Given the description of an element on the screen output the (x, y) to click on. 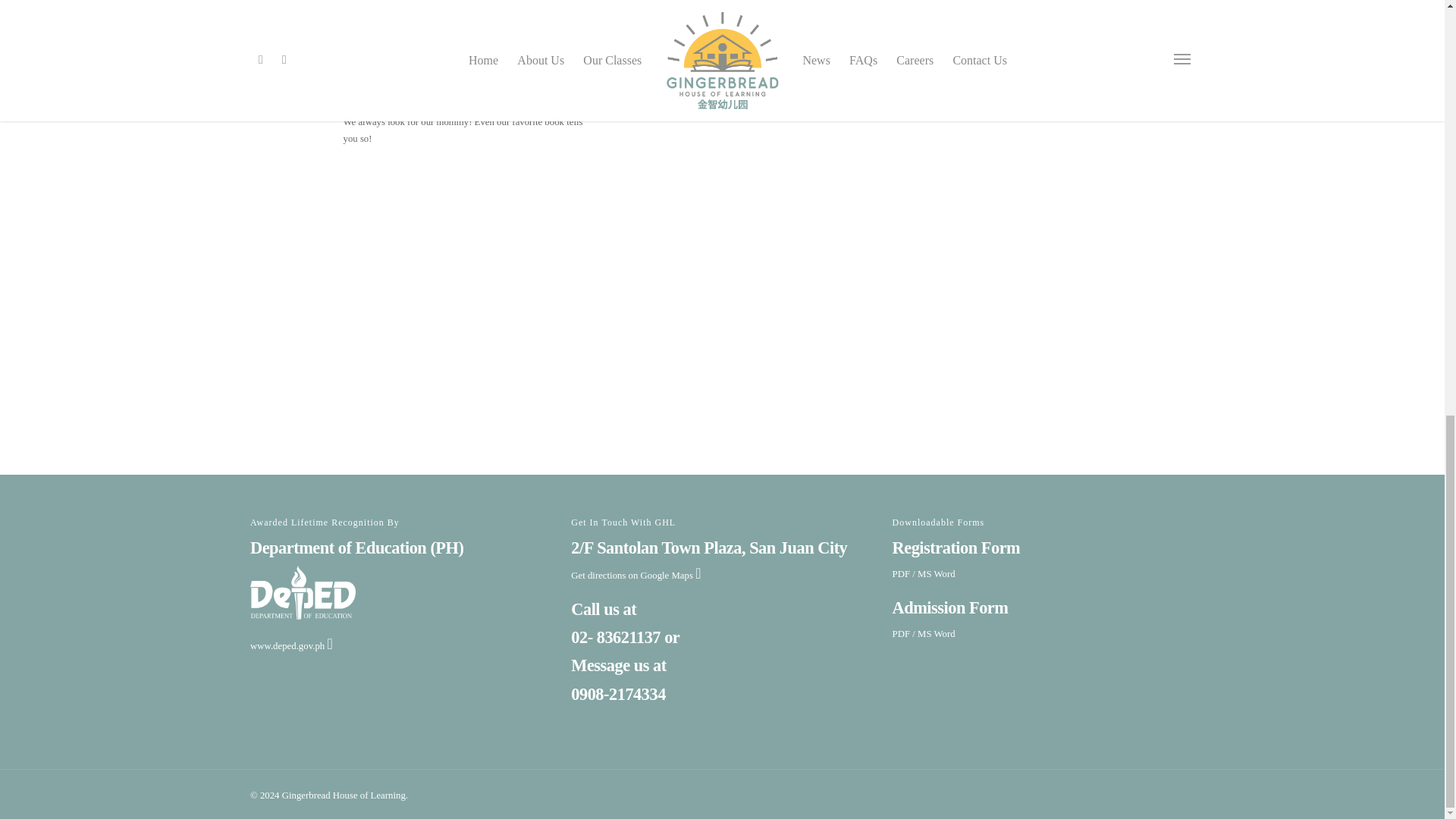
MS Word (936, 633)
MS Word (936, 573)
PDF (901, 633)
PDF (901, 573)
